Given the description of an element on the screen output the (x, y) to click on. 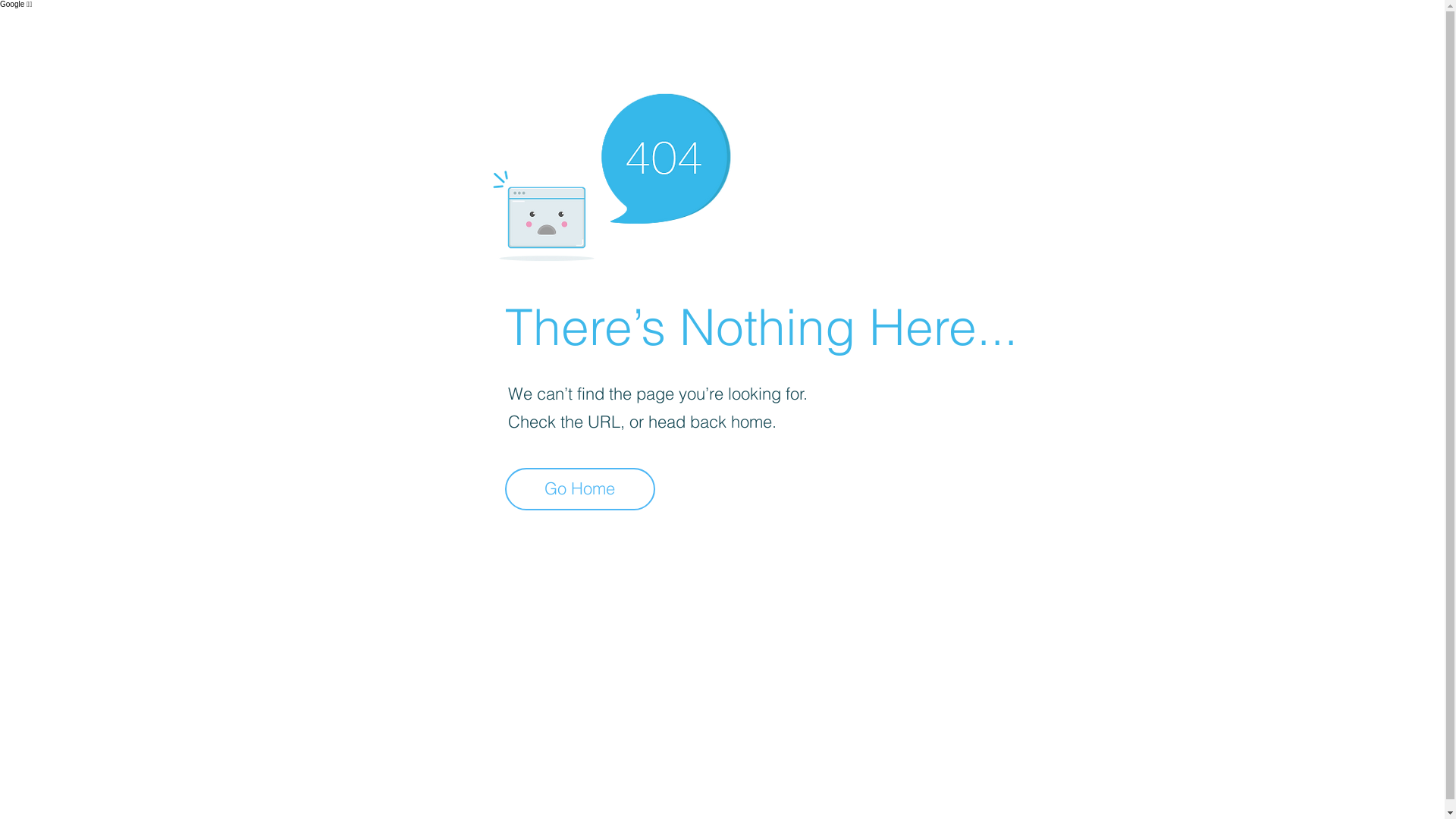
Go Home Element type: text (580, 488)
404-icon_2.png Element type: hover (610, 173)
